Given the description of an element on the screen output the (x, y) to click on. 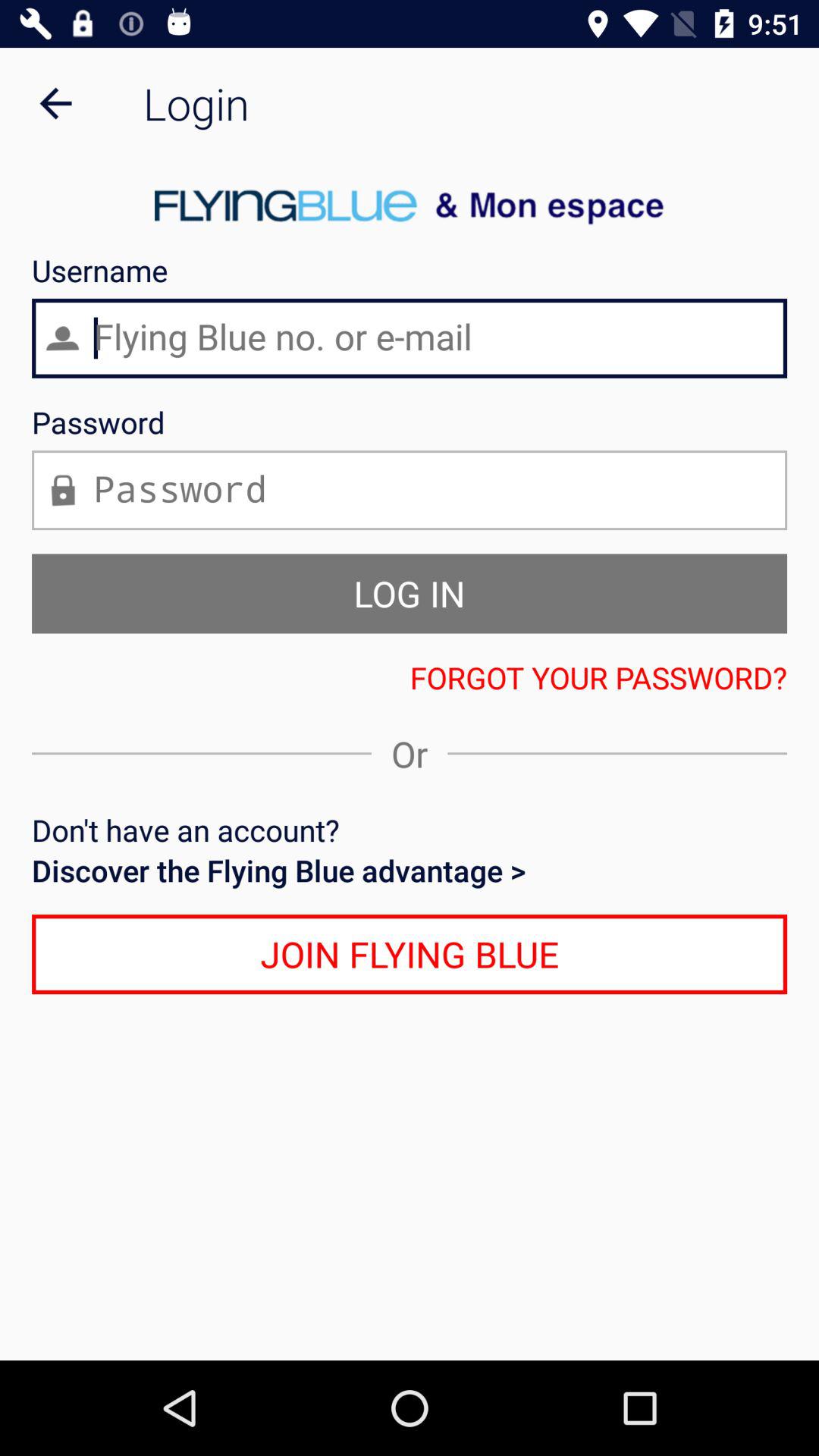
choose the item below don t have item (409, 870)
